Given the description of an element on the screen output the (x, y) to click on. 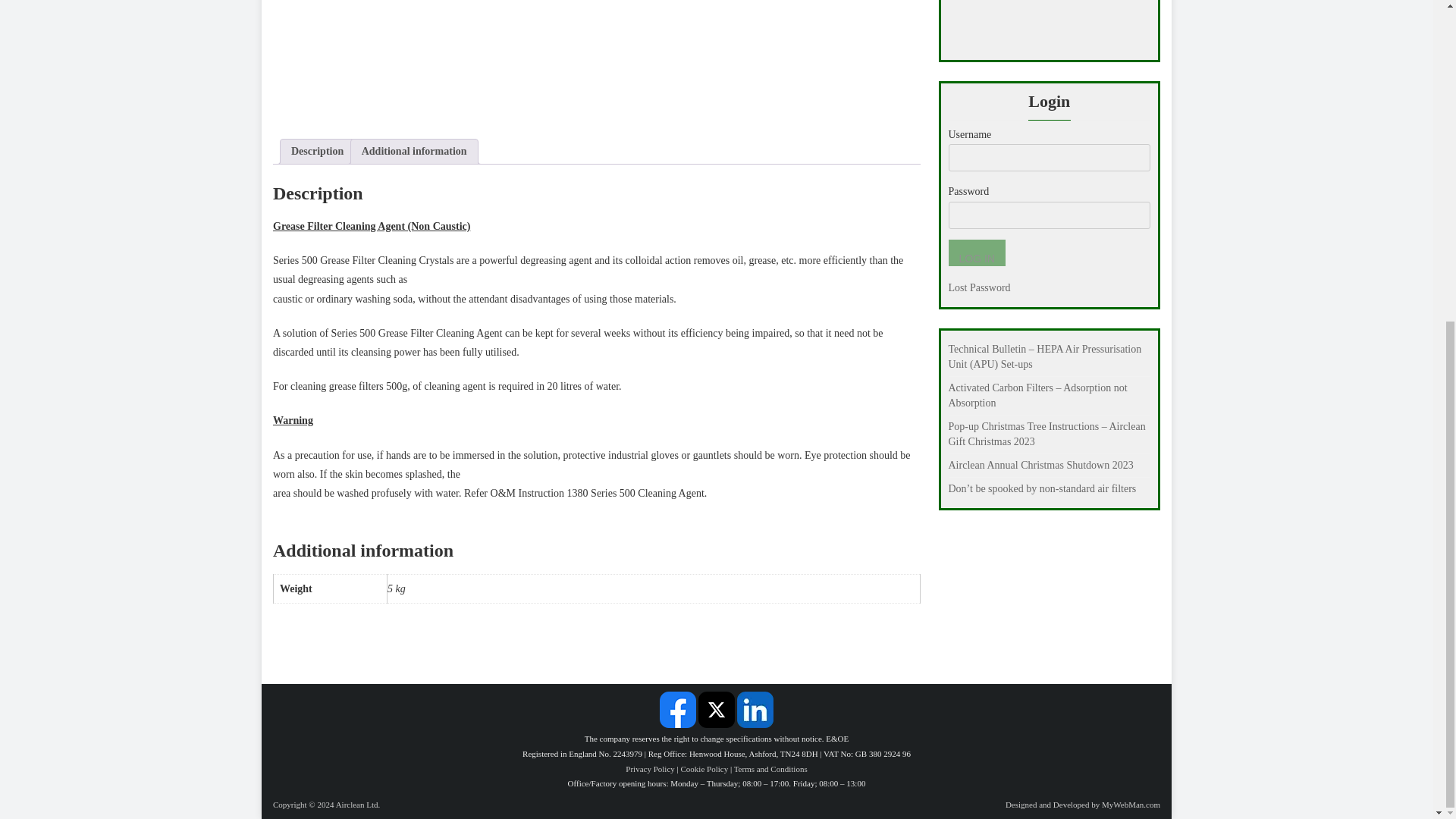
Log In (975, 252)
